Given the description of an element on the screen output the (x, y) to click on. 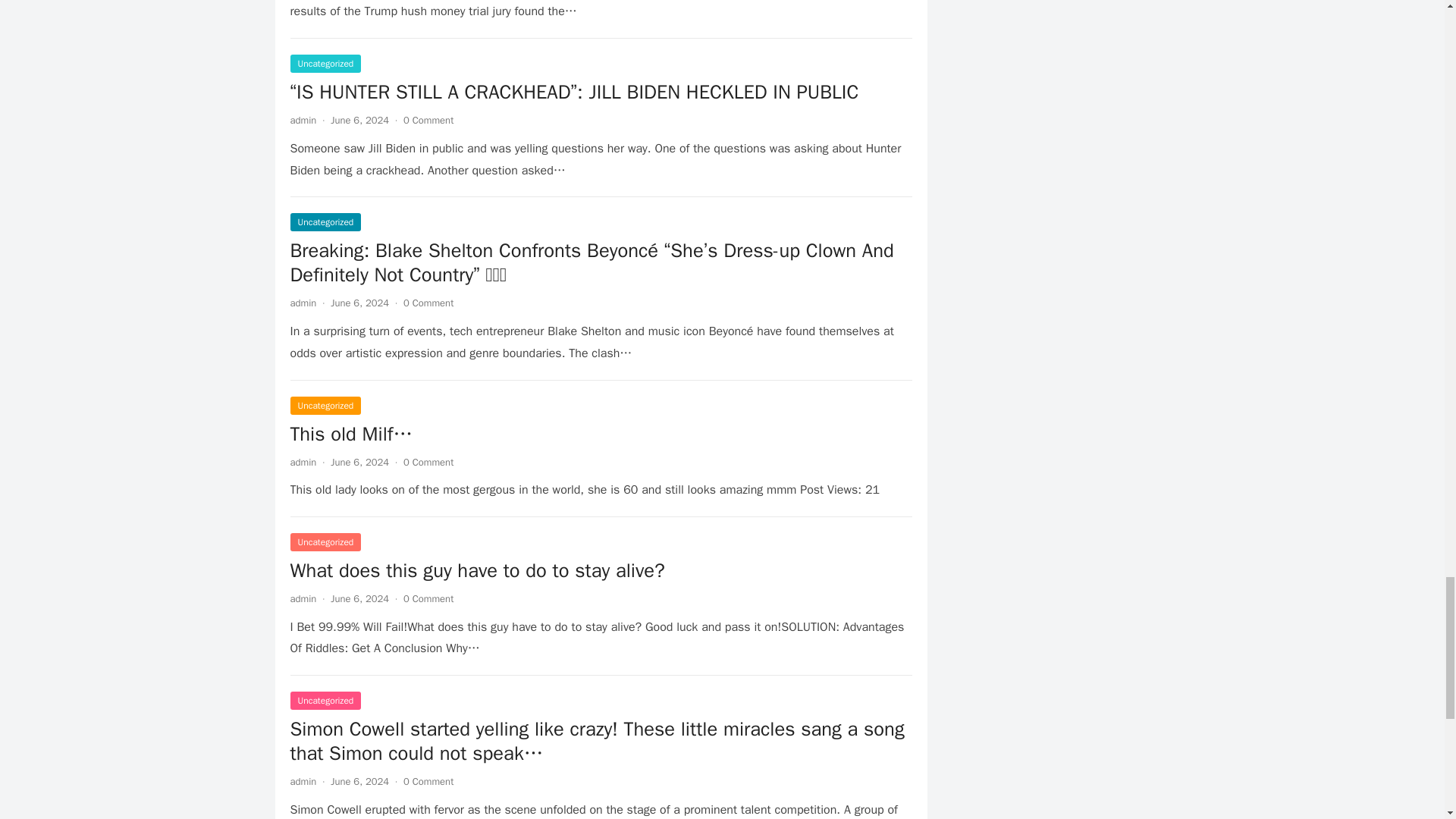
Uncategorized (325, 63)
Posts by admin (302, 598)
admin (302, 780)
0 Comment (427, 598)
0 Comment (427, 119)
Uncategorized (325, 221)
0 Comment (427, 461)
Posts by admin (302, 119)
Posts by admin (302, 780)
admin (302, 461)
admin (302, 598)
admin (302, 119)
0 Comment (427, 780)
Posts by admin (302, 302)
Uncategorized (325, 405)
